Given the description of an element on the screen output the (x, y) to click on. 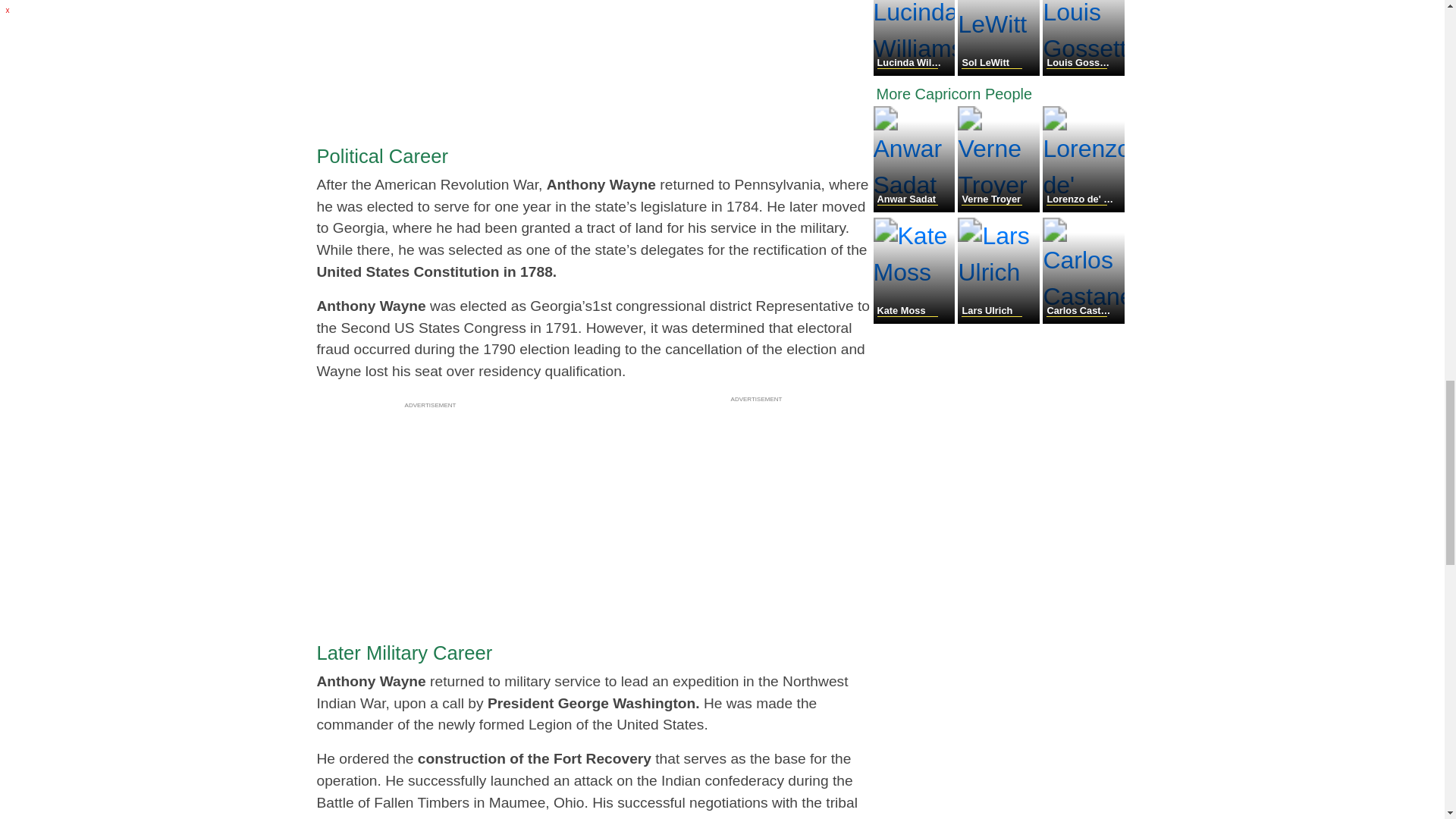
Verne Troyer (1000, 207)
3rd party ad content (430, 508)
Louis Gossett Jr. (1083, 71)
3rd party ad content (756, 50)
3rd party ad content (430, 53)
3rd party ad content (756, 502)
Sol LeWitt (1000, 71)
Anwar Sadat (915, 207)
Lucinda Williams (915, 71)
